Given the description of an element on the screen output the (x, y) to click on. 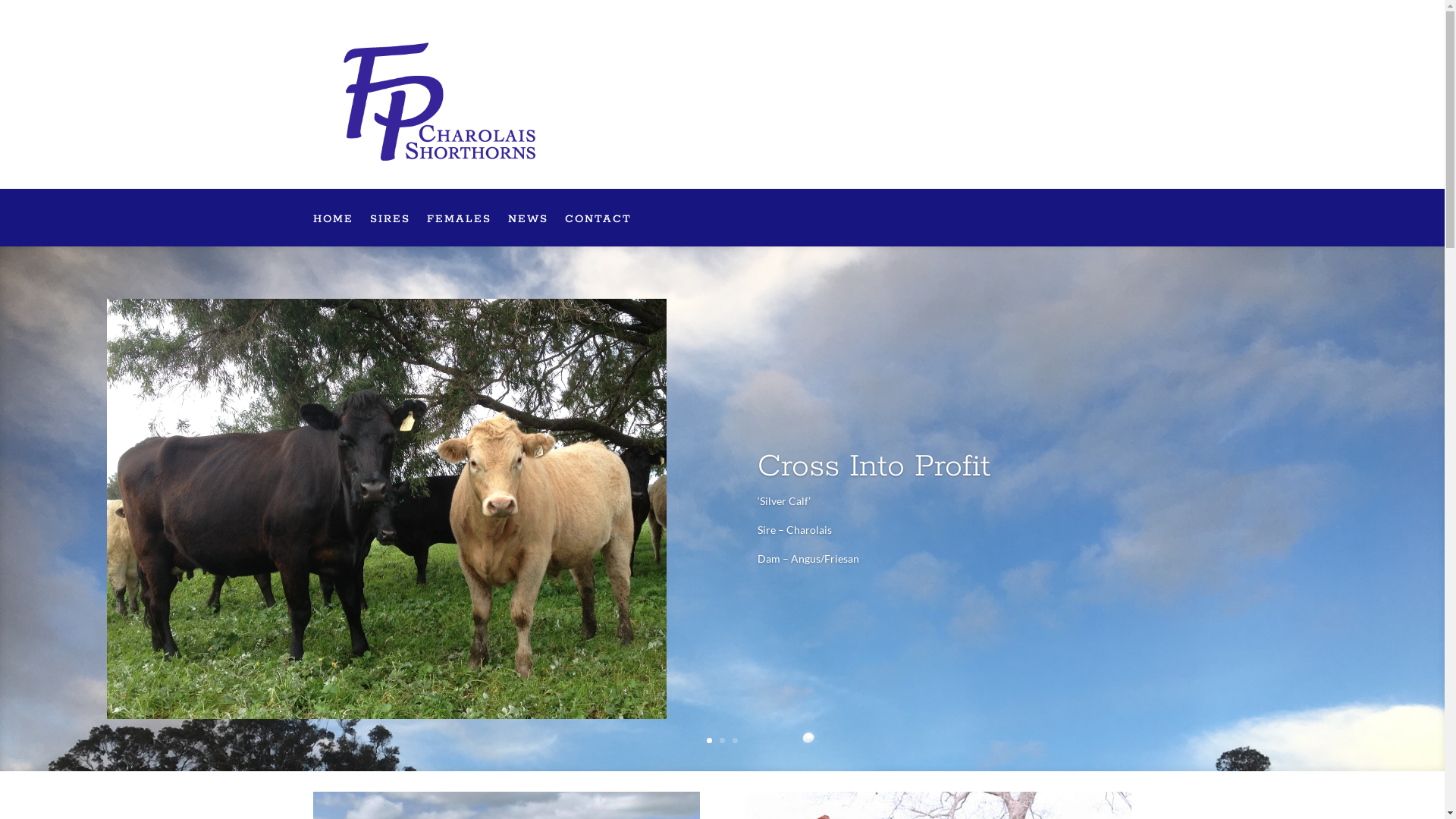
FEMALES Element type: text (458, 229)
HOME Element type: text (332, 229)
NEWS Element type: text (528, 229)
3 Element type: text (734, 740)
2 Element type: text (721, 740)
CONTACT Element type: text (597, 229)
1 Element type: text (709, 740)
SIRES Element type: text (390, 229)
